Given the description of an element on the screen output the (x, y) to click on. 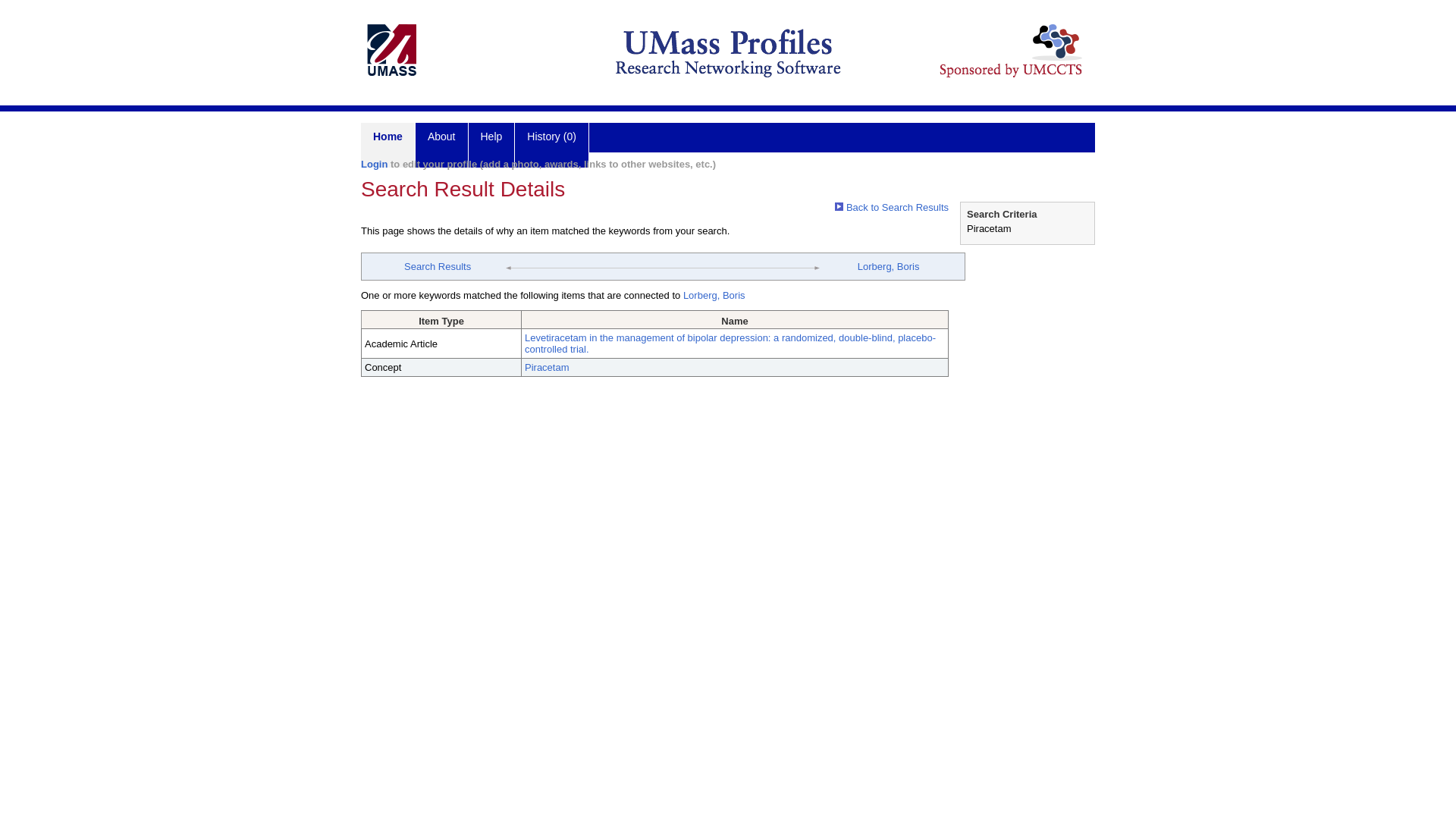
About (441, 144)
Back to Search Results (891, 206)
Help (491, 144)
Search Results (437, 266)
Piracetam (546, 367)
Lorberg, Boris (713, 295)
Home (387, 144)
Login (374, 163)
Lorberg, Boris (888, 266)
